Given the description of an element on the screen output the (x, y) to click on. 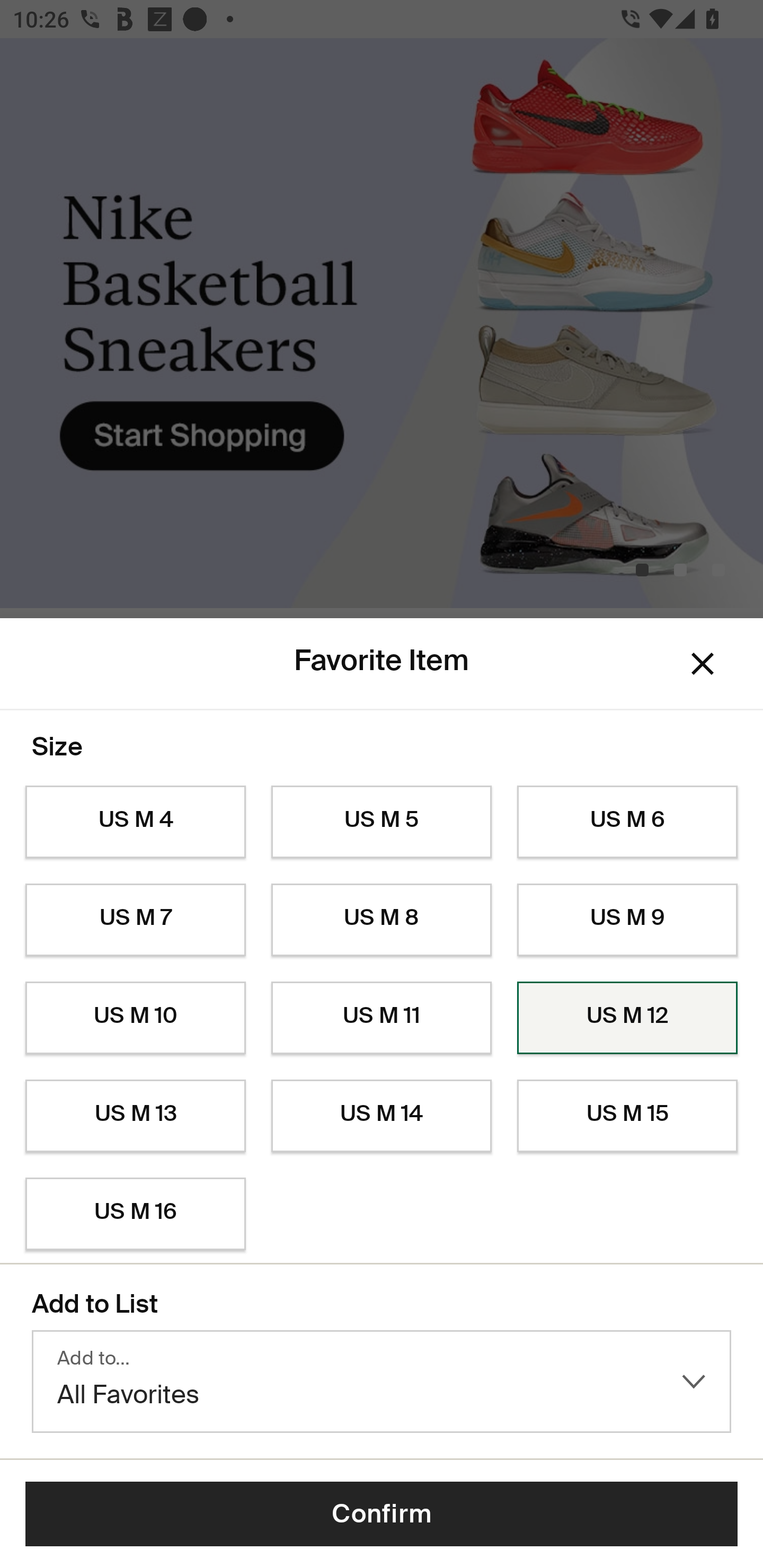
Dismiss (702, 663)
US M 4 (135, 822)
US M 5 (381, 822)
US M 6 (627, 822)
US M 7 (135, 919)
US M 8 (381, 919)
US M 9 (627, 919)
US M 10 (135, 1018)
US M 11 (381, 1018)
US M 12 (627, 1018)
US M 13 (135, 1116)
US M 14 (381, 1116)
US M 15 (627, 1116)
US M 16 (135, 1214)
Add to… All Favorites (381, 1381)
Confirm (381, 1513)
